Given the description of an element on the screen output the (x, y) to click on. 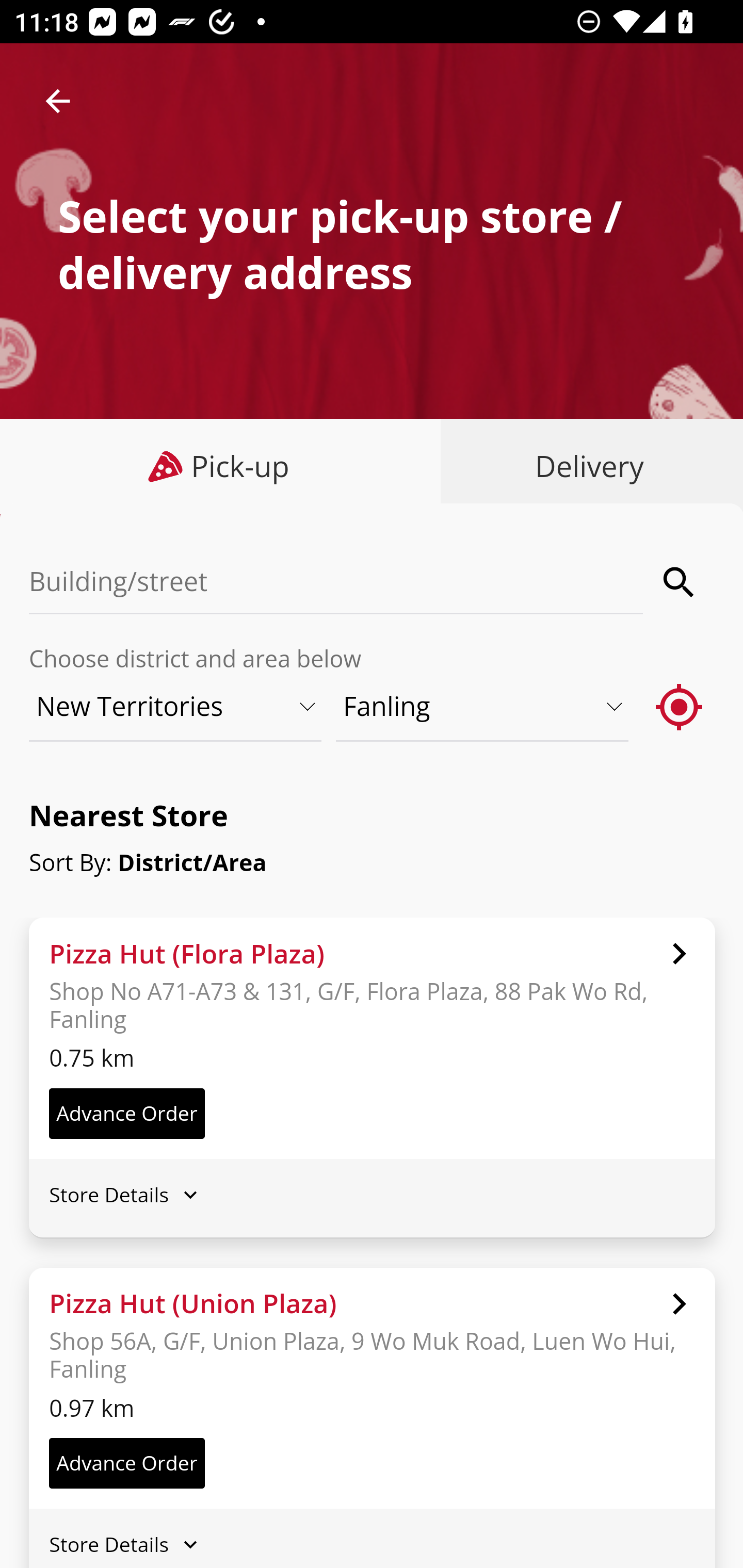
arrow_back (58, 100)
Pick-up (221, 466)
Delivery (585, 466)
search (679, 582)
gps_fixed (679, 706)
New Territories (175, 706)
Fanling (482, 706)
Store Details (371, 1193)
Store Details (371, 1544)
